Given the description of an element on the screen output the (x, y) to click on. 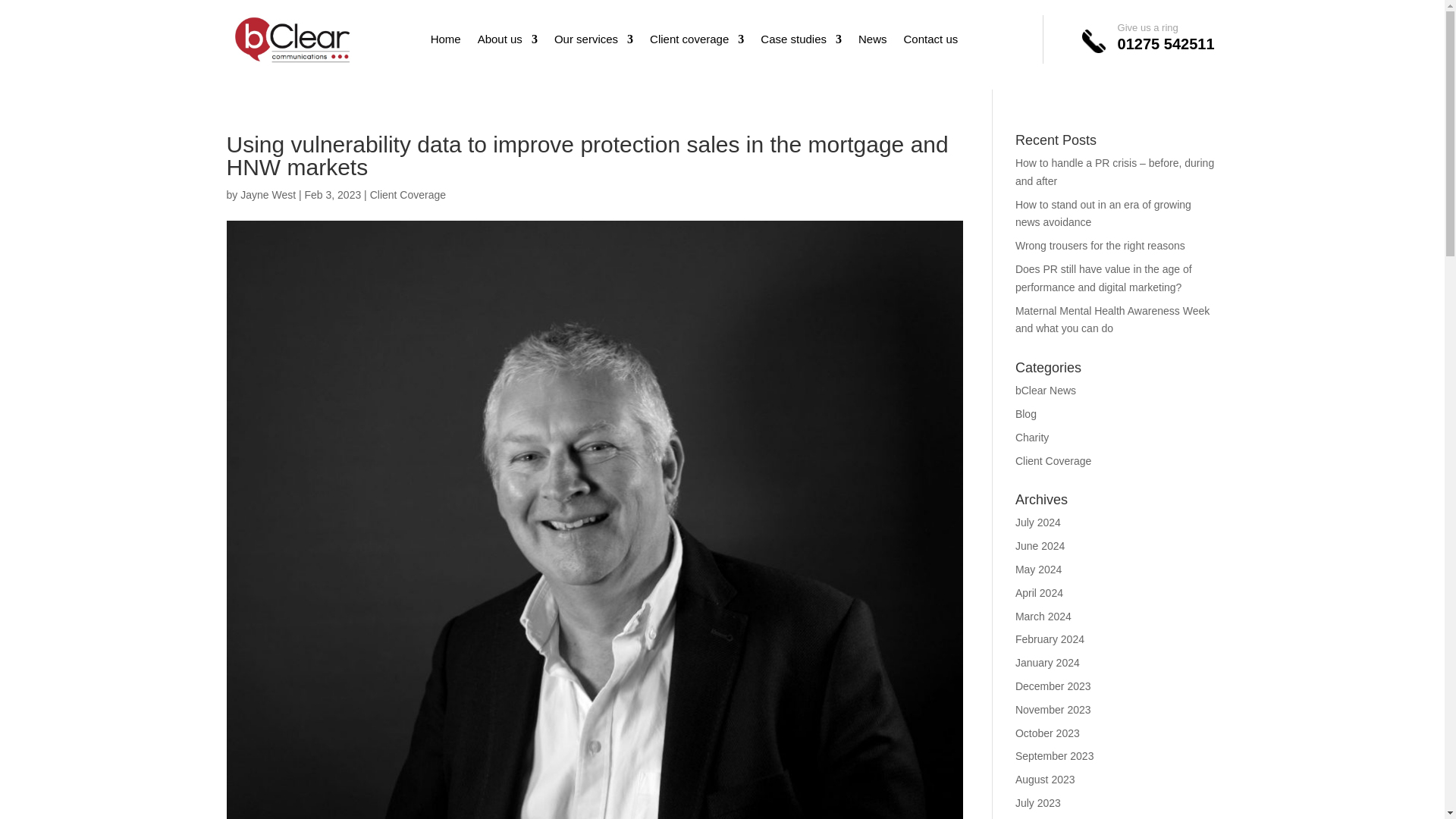
About us (507, 42)
Contact us (931, 42)
Home (445, 42)
Our services (593, 42)
Posts by Jayne West (267, 194)
Case studies (800, 42)
bClear LOGO MASTER (292, 38)
News (872, 42)
Client coverage (696, 42)
